Given the description of an element on the screen output the (x, y) to click on. 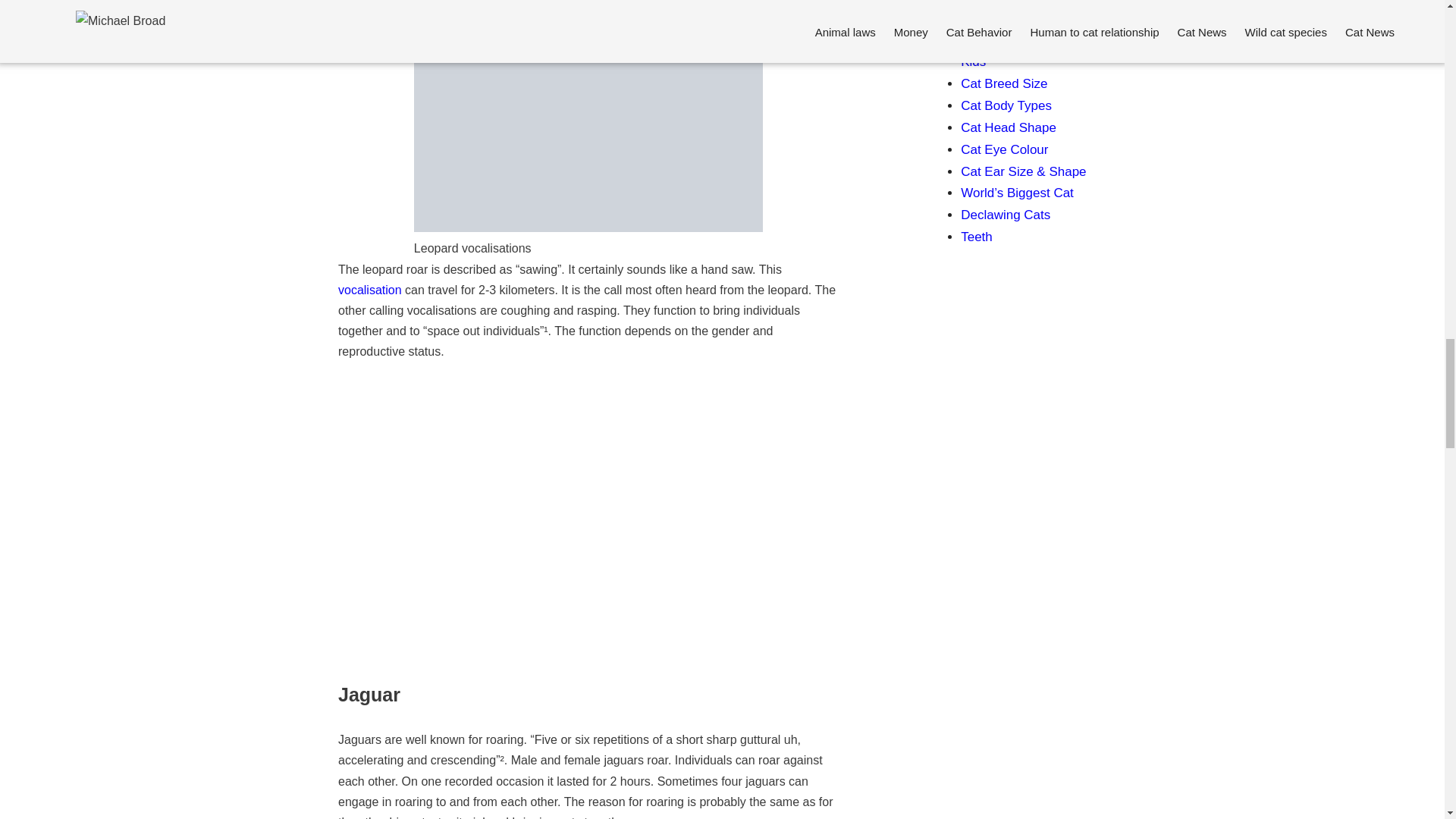
vocalisation (369, 289)
